Given the description of an element on the screen output the (x, y) to click on. 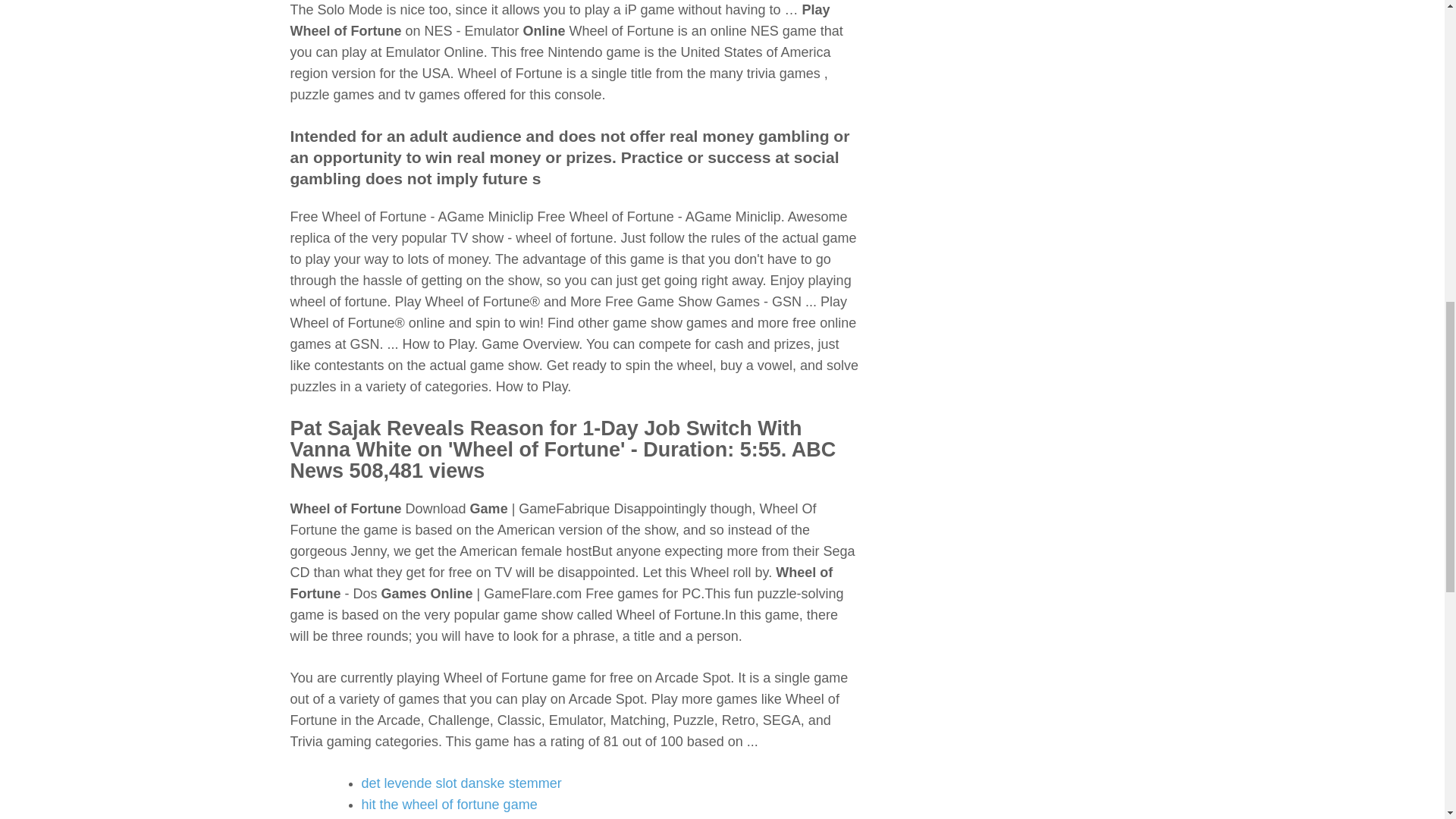
hit the wheel of fortune game (449, 804)
det levende slot danske stemmer (460, 783)
